Given the description of an element on the screen output the (x, y) to click on. 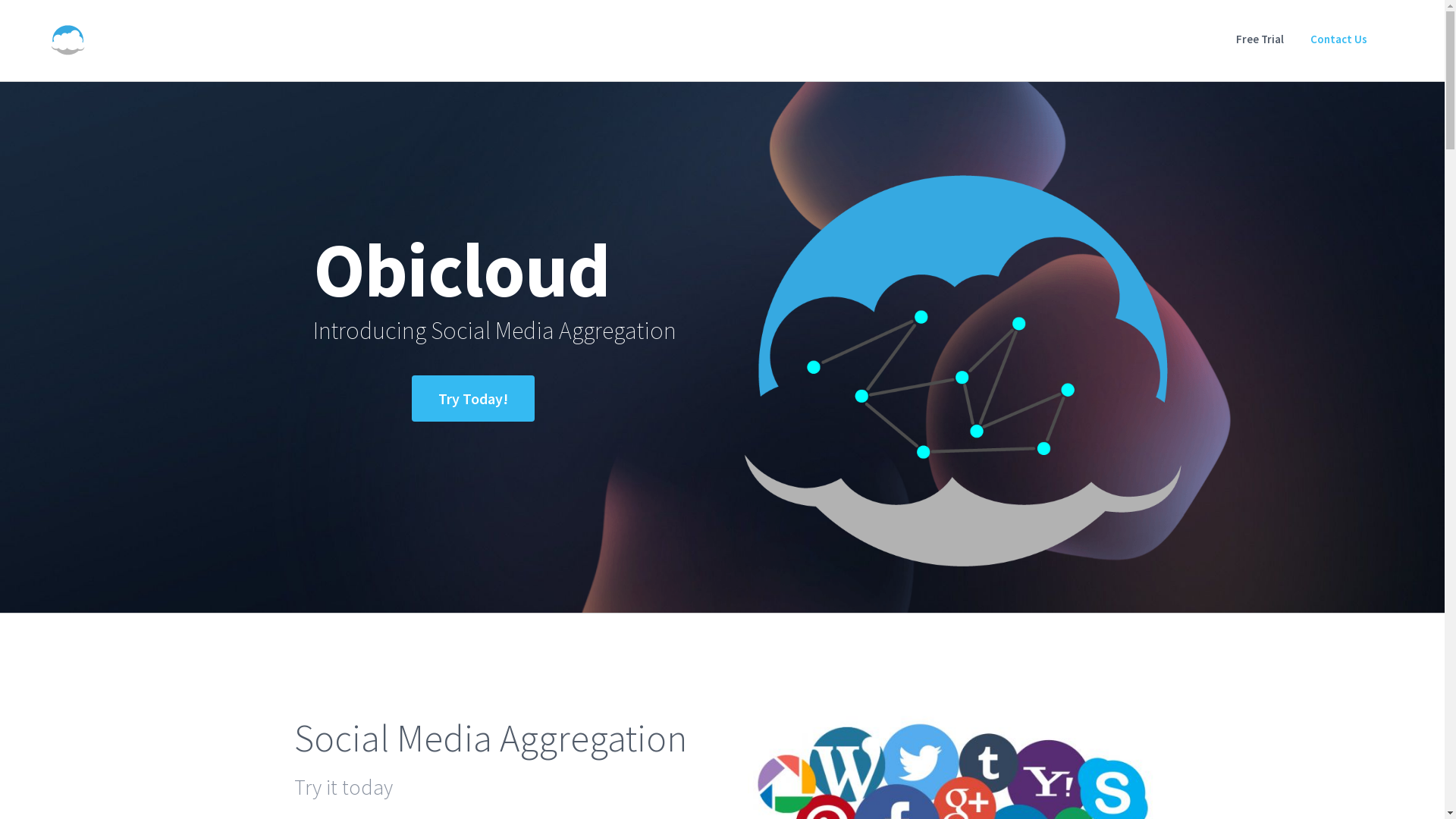
Contact Us Element type: text (1338, 38)
Free Trial Element type: text (1259, 38)
Try Today! Element type: text (472, 398)
